Given the description of an element on the screen output the (x, y) to click on. 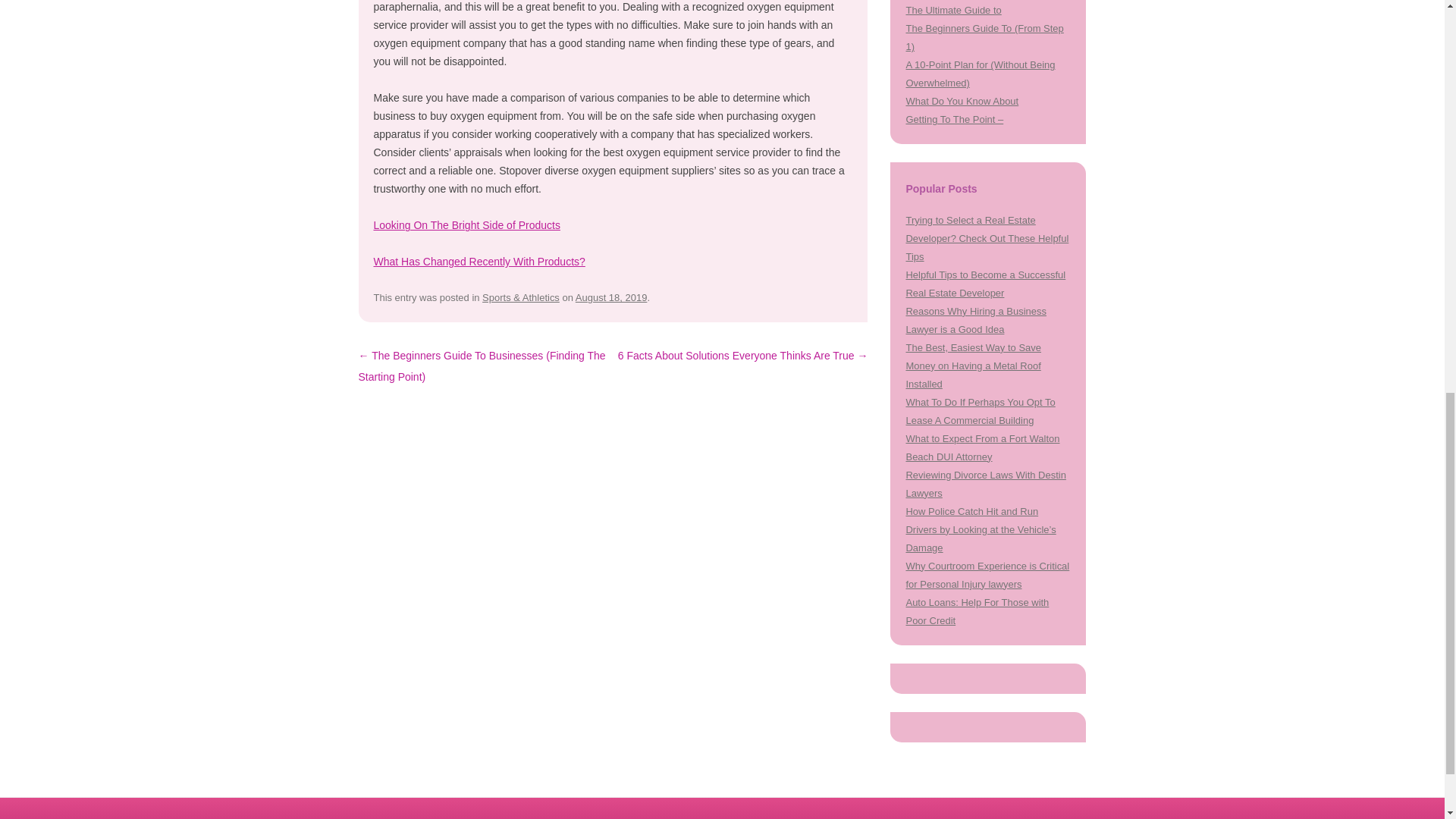
Reasons Why Hiring a Business Lawyer is a Good Idea (975, 319)
Looking On The Bright Side of Products (465, 224)
August 18, 2019 (611, 297)
What to Expect From a Fort Walton Beach DUI Attorney (982, 447)
What To Do If Perhaps You Opt To Lease A Commercial Building (979, 410)
What Has Changed Recently With Products? (478, 261)
Reviewing Divorce Laws With Destin Lawyers (985, 483)
Helpful Tips to Become a Successful Real Estate Developer (985, 283)
Auto Loans: Help For Those with Poor Credit (976, 611)
12:31 pm (611, 297)
The Ultimate Guide to (953, 9)
